Given the description of an element on the screen output the (x, y) to click on. 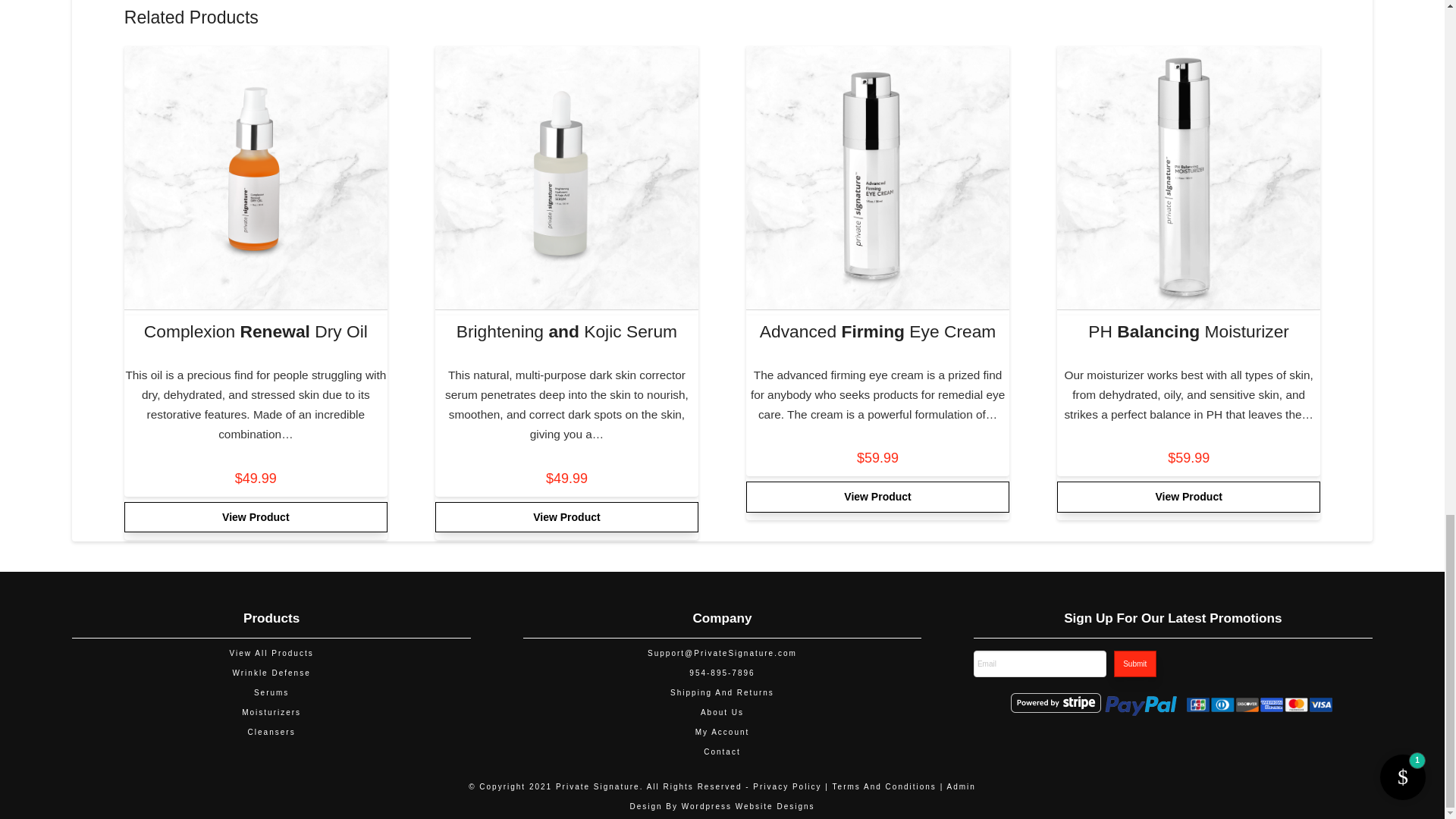
Submit (1134, 663)
